Given the description of an element on the screen output the (x, y) to click on. 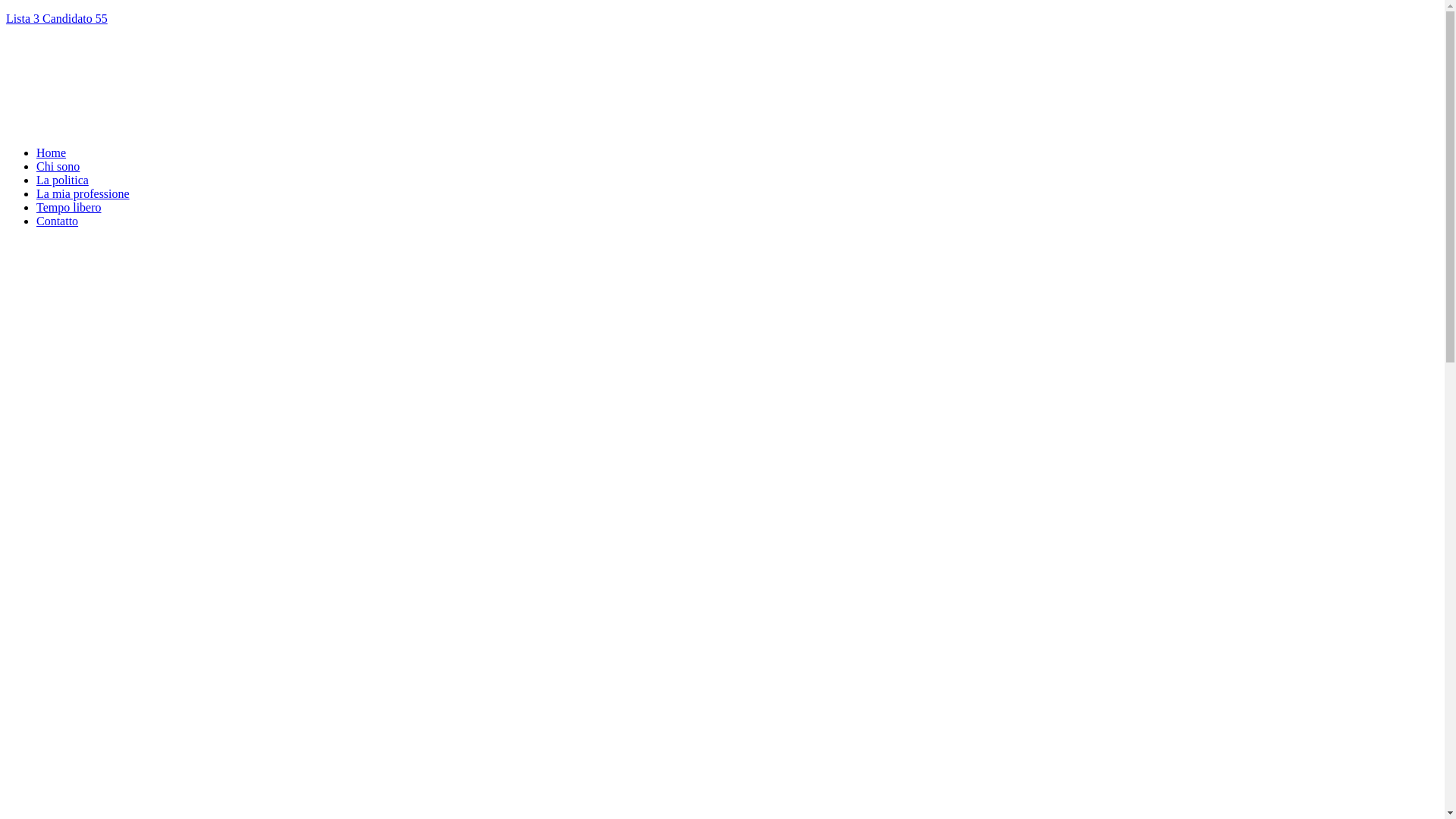
Lista 3 Candidato 55 Element type: text (722, 18)
Tempo libero Element type: text (68, 206)
Home Element type: text (50, 152)
La politica Element type: text (62, 179)
Chi sono Element type: text (57, 166)
Contatto Element type: text (57, 220)
La mia professione Element type: text (82, 193)
